Given the description of an element on the screen output the (x, y) to click on. 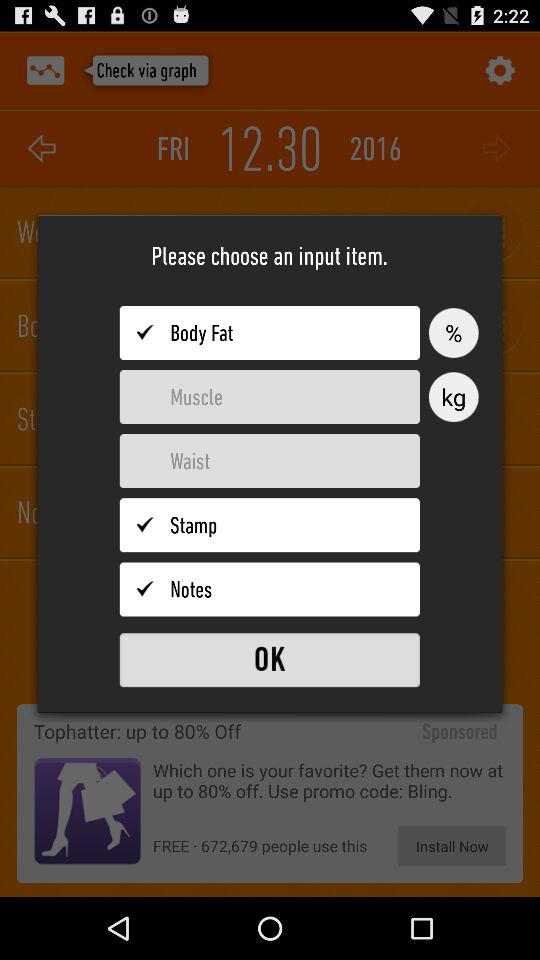
notes down (269, 589)
